Given the description of an element on the screen output the (x, y) to click on. 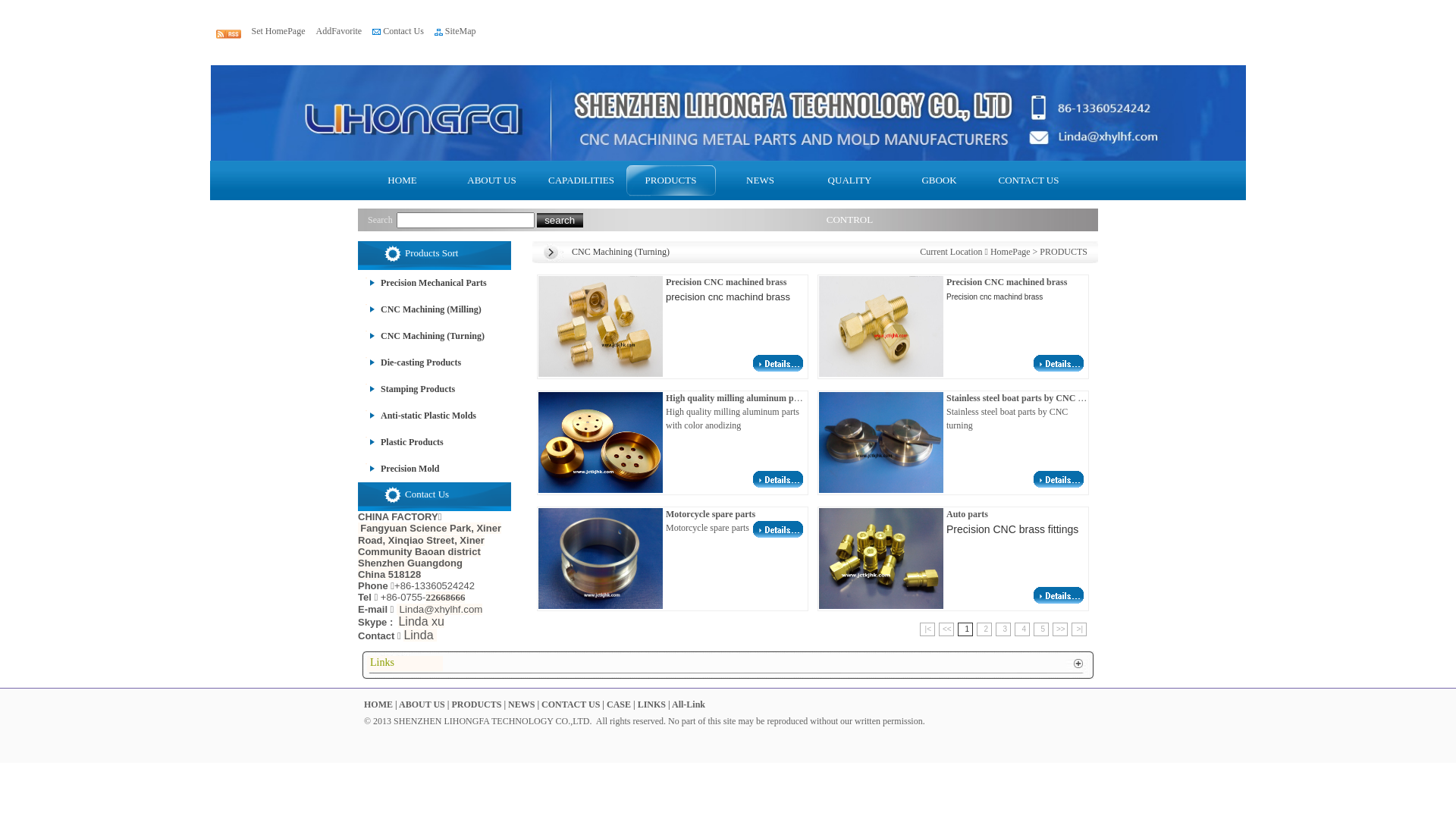
Die-casting Products Element type: text (409, 362)
PRODUCTS Element type: text (1063, 251)
All-Link Element type: text (688, 704)
CNC Machining (Milling) Element type: text (419, 309)
ABOUT US Element type: text (421, 704)
4 Element type: text (1021, 629)
Auto parts Element type: hover (881, 605)
PRODUCTS Element type: text (476, 704)
|< Element type: text (927, 629)
Contact Us Element type: text (402, 30)
NEWS Element type: text (521, 704)
Contact Us Element type: text (426, 493)
1 Element type: text (964, 629)
Precision Mechanical Parts Element type: text (421, 282)
CONTACT US Element type: text (1028, 180)
<< Element type: text (945, 629)
2 Element type: text (983, 629)
Plastic Products Element type: text (400, 441)
Precision Mold Element type: text (398, 468)
Precision CNC machined brass Element type: hover (778, 368)
ABOUT US Element type: text (491, 180)
HOME Element type: text (378, 704)
CASE Element type: text (618, 704)
LINKS Element type: text (651, 704)
AddFavorite Element type: text (338, 30)
Stamping Products Element type: text (406, 388)
CNC Machining (Turning) Element type: text (420, 335)
HomePage Element type: text (1010, 251)
CONTACT US Element type: text (570, 704)
QUALITY CONTROL Element type: text (849, 180)
Precision CNC machined brass Element type: hover (600, 373)
Set HomePage Element type: text (278, 30)
5 Element type: text (1040, 629)
Precision CNC machined brass Element type: hover (1058, 368)
Stainless steel boat parts by CNC turning Element type: hover (881, 489)
Motorcycle spare parts Element type: hover (778, 534)
PRODUCTS Element type: text (670, 180)
>> Element type: text (1059, 629)
 search  Element type: text (559, 220)
Anti-static Plastic Molds Element type: text (416, 415)
Auto parts Element type: hover (1058, 600)
HOME Element type: text (402, 180)
SiteMap Element type: text (460, 30)
Stainless steel boat parts by CNC turning Element type: hover (1058, 484)
High quality milling aluminum parts with color anodizing Element type: hover (778, 484)
NEWS Element type: text (760, 180)
High quality milling aluminum parts with color anodizing Element type: hover (600, 489)
Motorcycle spare parts Element type: hover (600, 605)
CAPADILITIES Element type: text (581, 180)
GBOOK Element type: text (939, 180)
>| Element type: text (1078, 629)
Precision CNC machined brass Element type: hover (881, 373)
3 Element type: text (1002, 629)
